Given the description of an element on the screen output the (x, y) to click on. 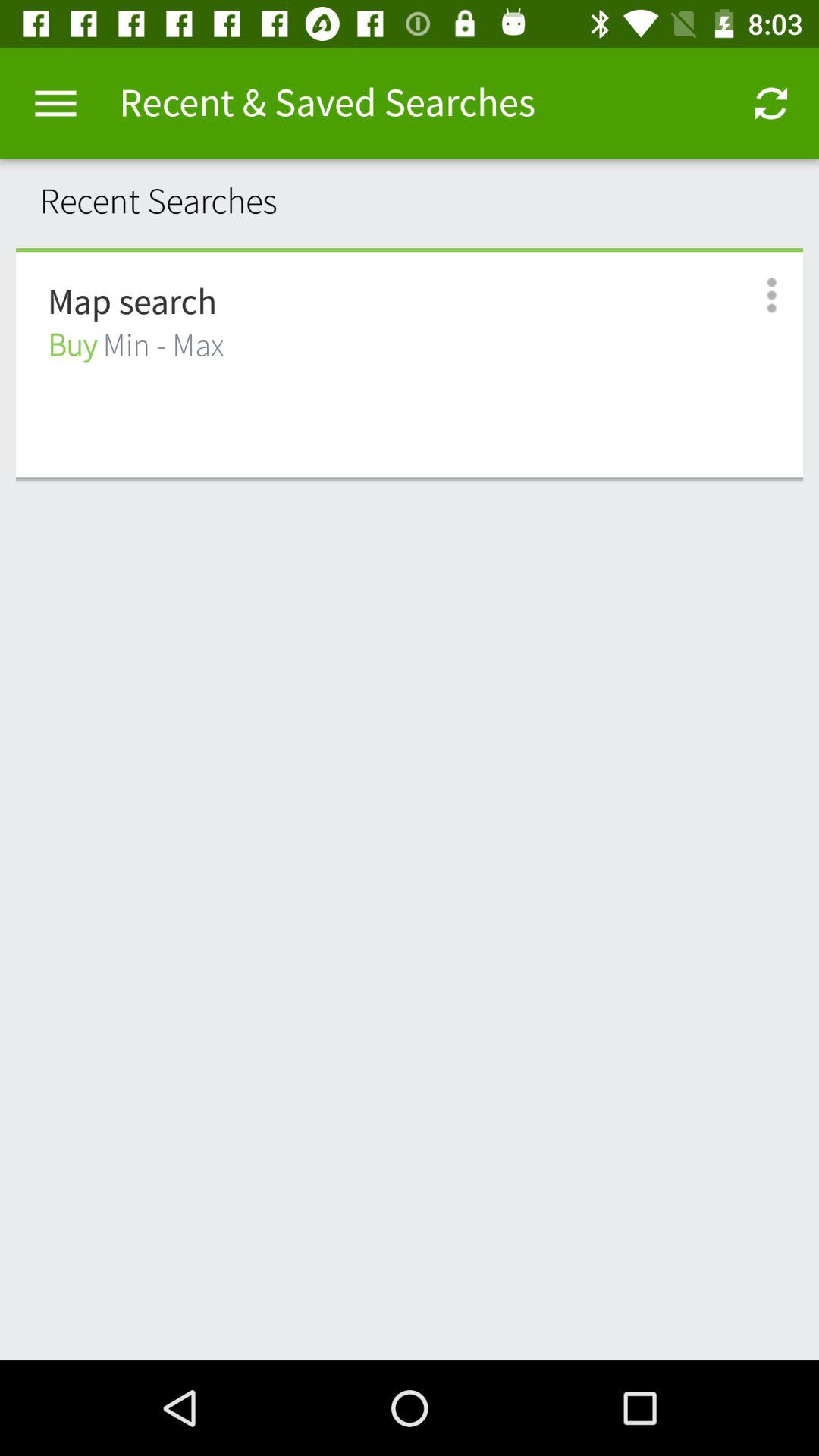
open the icon above the buy min - max (131, 302)
